Given the description of an element on the screen output the (x, y) to click on. 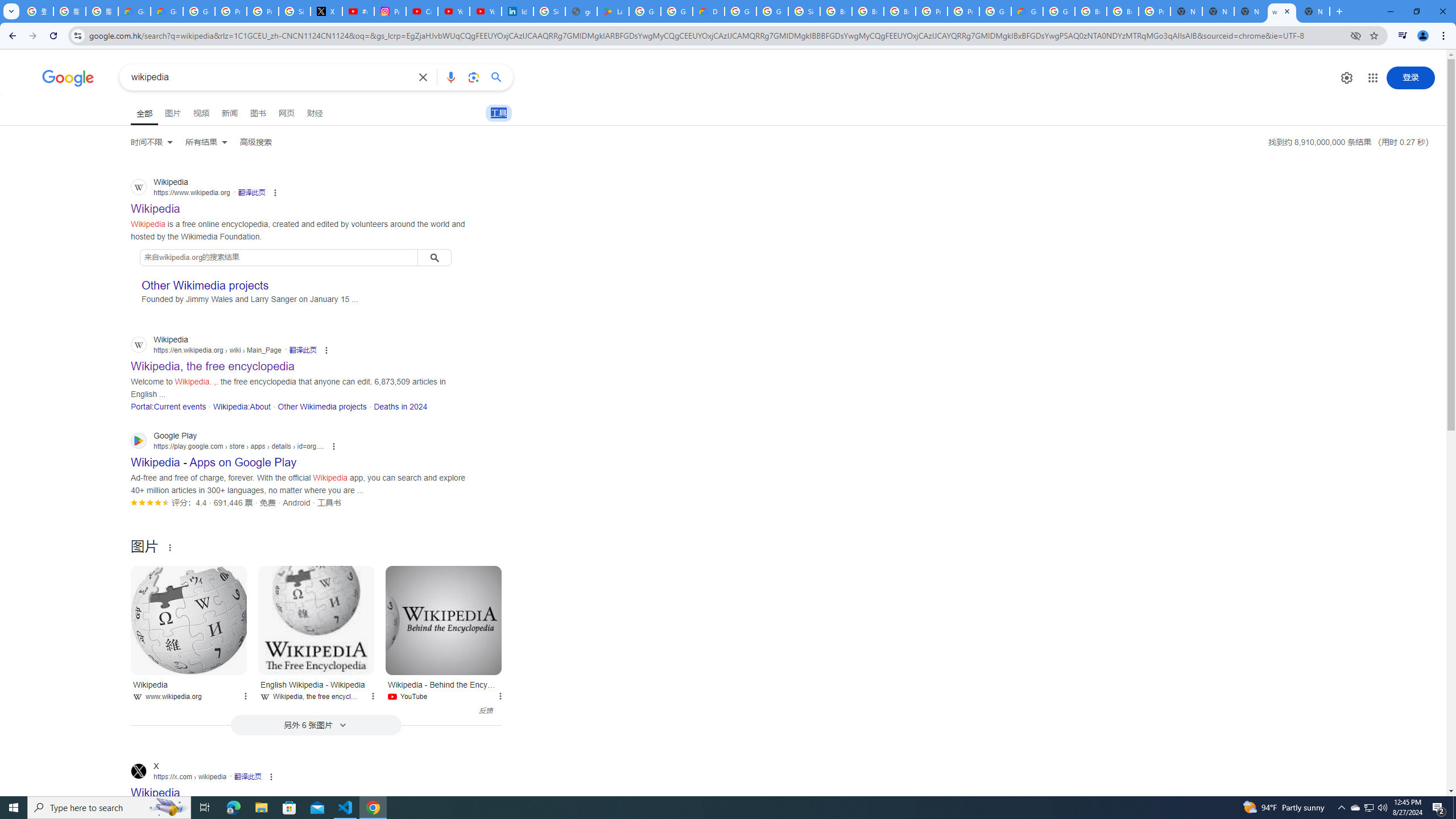
Browse Chrome as a guest - Computer - Google Chrome Help (1123, 11)
Google Cloud Platform (995, 11)
Google Cloud Privacy Notice (166, 11)
Other Wikimedia projects (322, 406)
Google Cloud Privacy Notice (134, 11)
